Given the description of an element on the screen output the (x, y) to click on. 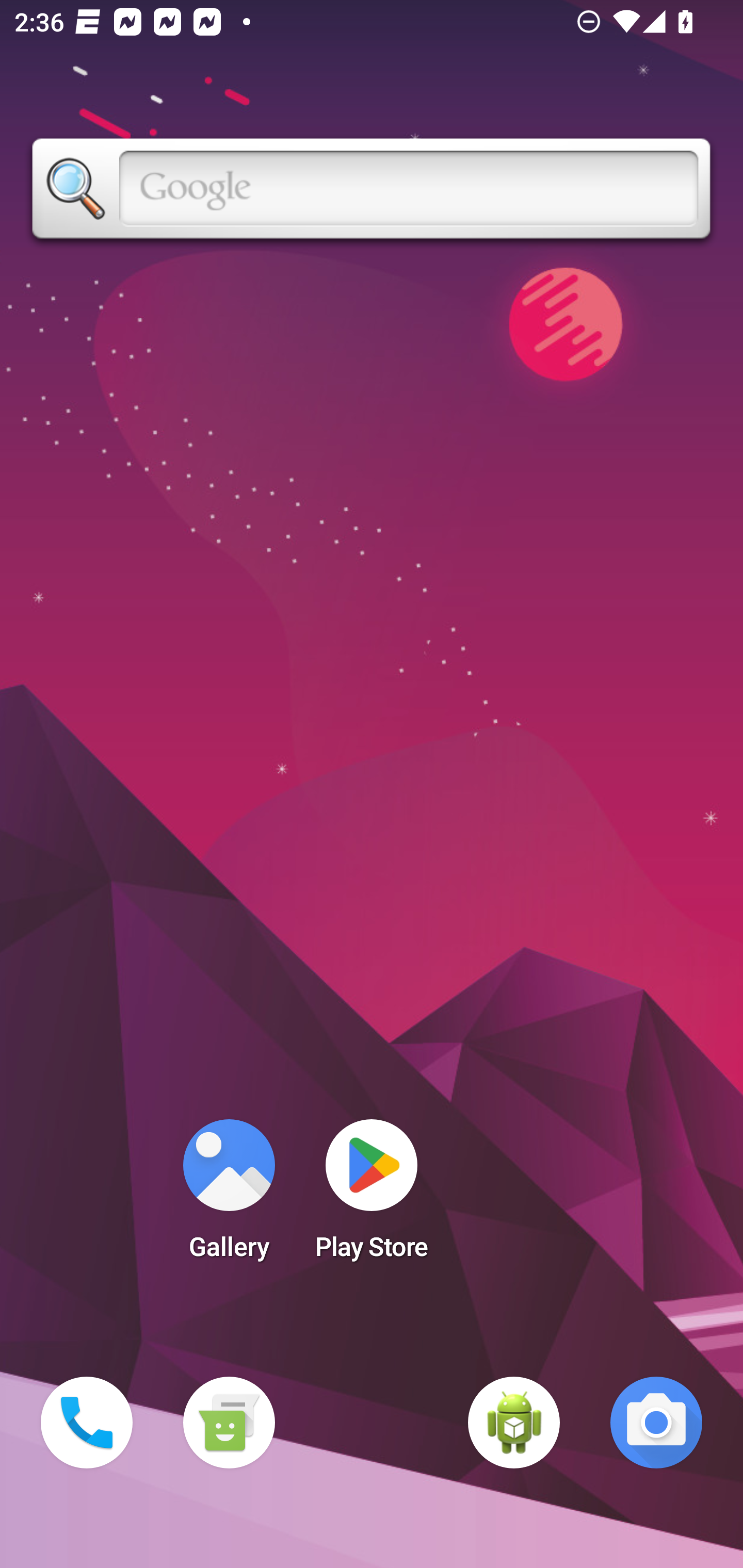
Gallery (228, 1195)
Play Store (371, 1195)
Phone (86, 1422)
Messaging (228, 1422)
WebView Browser Tester (513, 1422)
Camera (656, 1422)
